Given the description of an element on the screen output the (x, y) to click on. 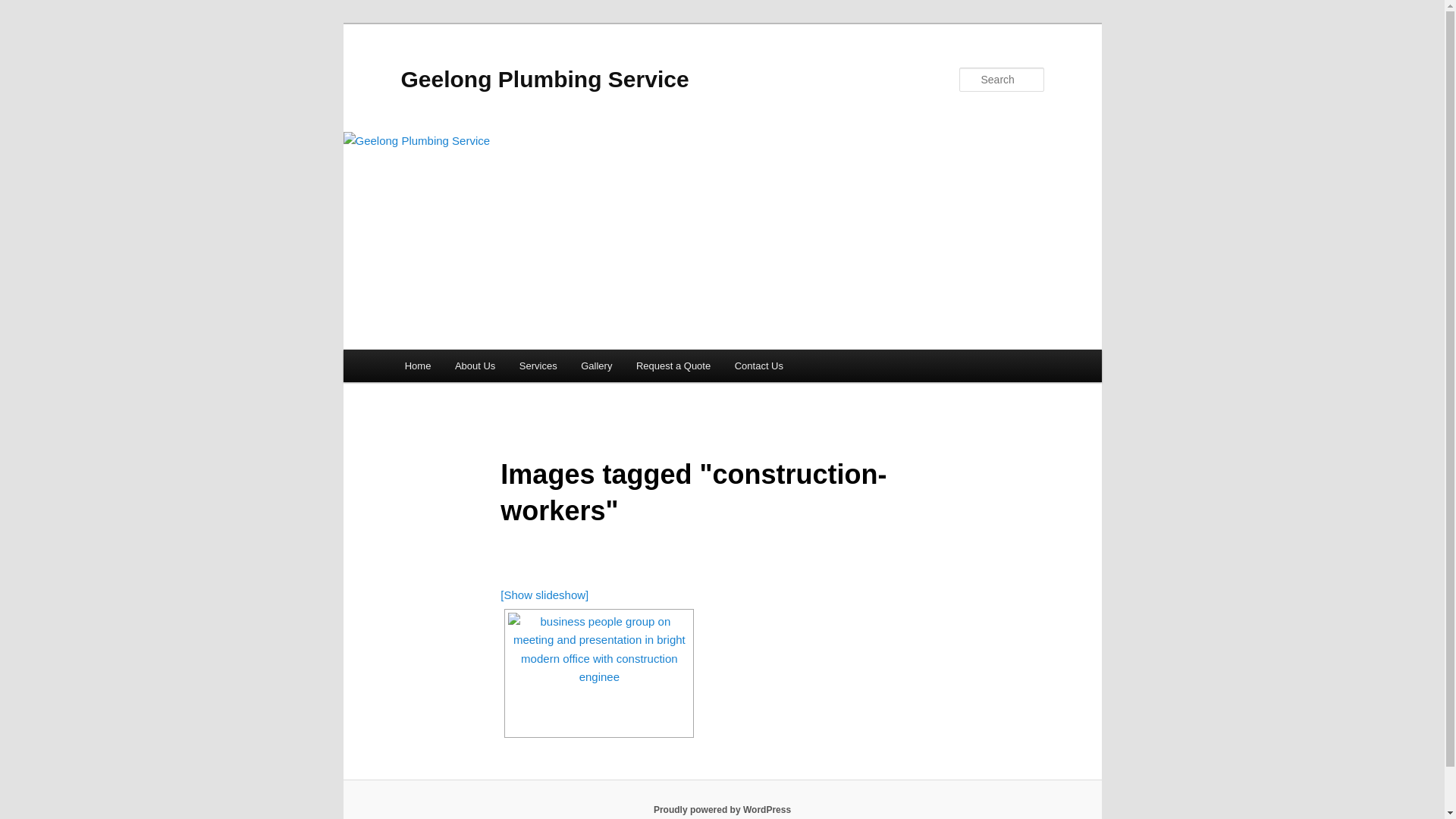
Proudly powered by WordPress Element type: text (721, 809)
Request a Quote Element type: text (673, 365)
Home Element type: text (417, 365)
About Us Element type: text (474, 365)
[Show slideshow] Element type: text (544, 594)
Search Element type: text (24, 8)
Gallery Element type: text (596, 365)
Services Element type: text (537, 365)
Skip to primary content Element type: text (22, 22)
Geelong Plumbing Service Element type: text (544, 78)
Contact Us Element type: text (758, 365)
